Given the description of an element on the screen output the (x, y) to click on. 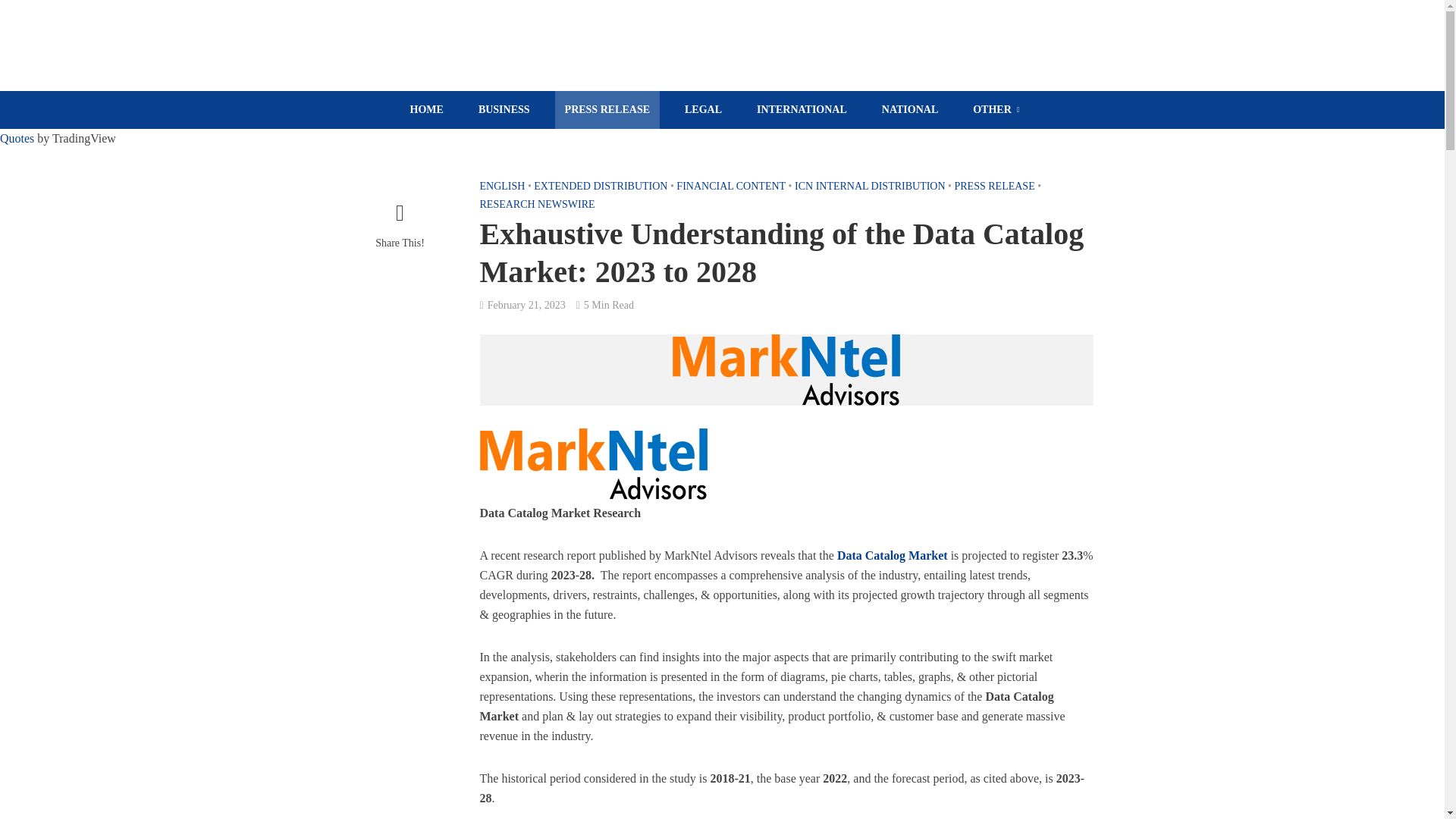
HOME (426, 109)
BUSINESS (504, 109)
INTERNATIONAL (801, 109)
LEGAL (703, 109)
OTHER (995, 109)
PRESS RELEASE (606, 109)
NATIONAL (909, 109)
Quotes (16, 137)
